Given the description of an element on the screen output the (x, y) to click on. 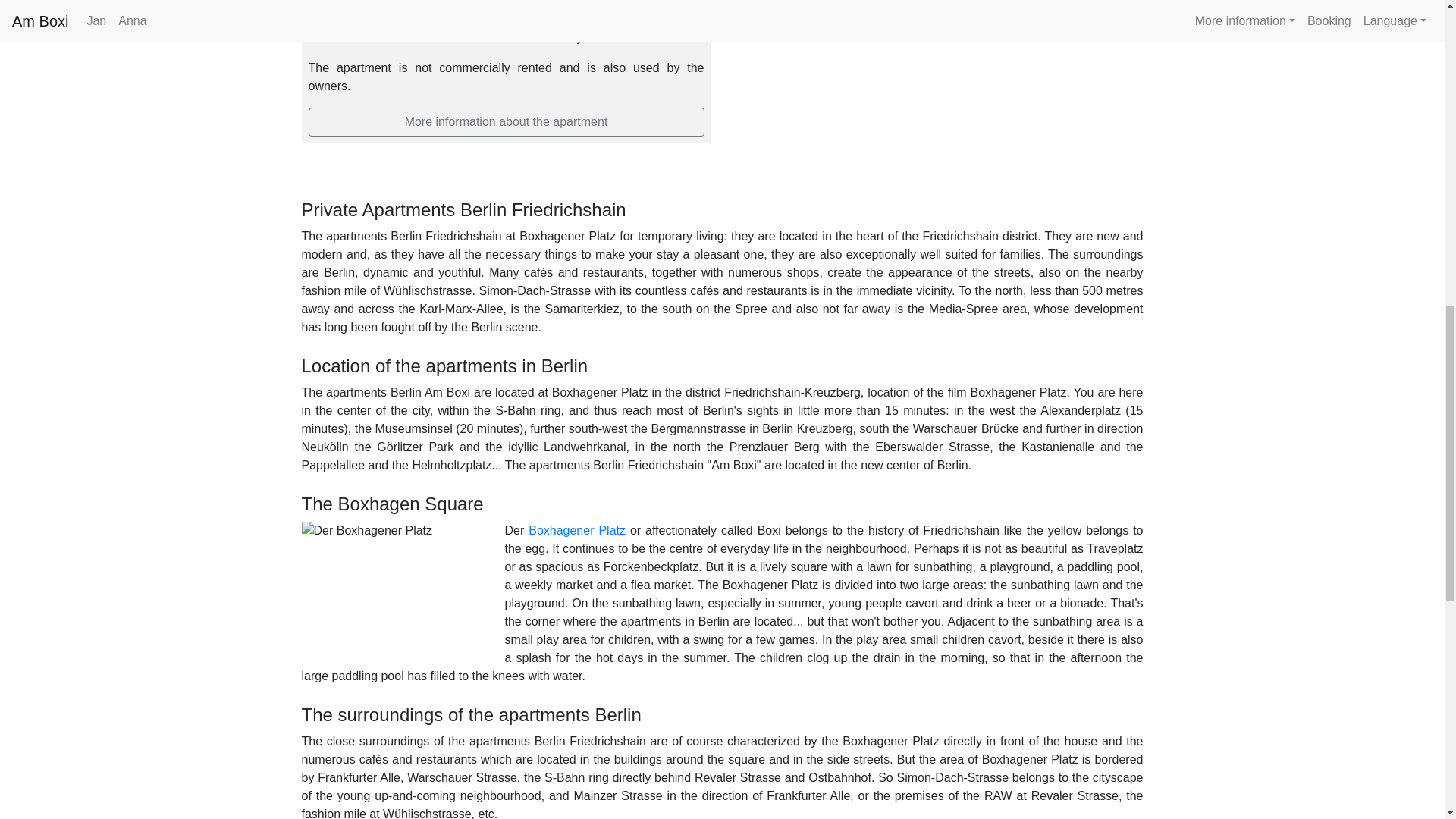
More information about the apartment (505, 121)
Boxhagener Platz (577, 530)
Der Boxhagener Platz in Friedrichshain (577, 530)
